Given the description of an element on the screen output the (x, y) to click on. 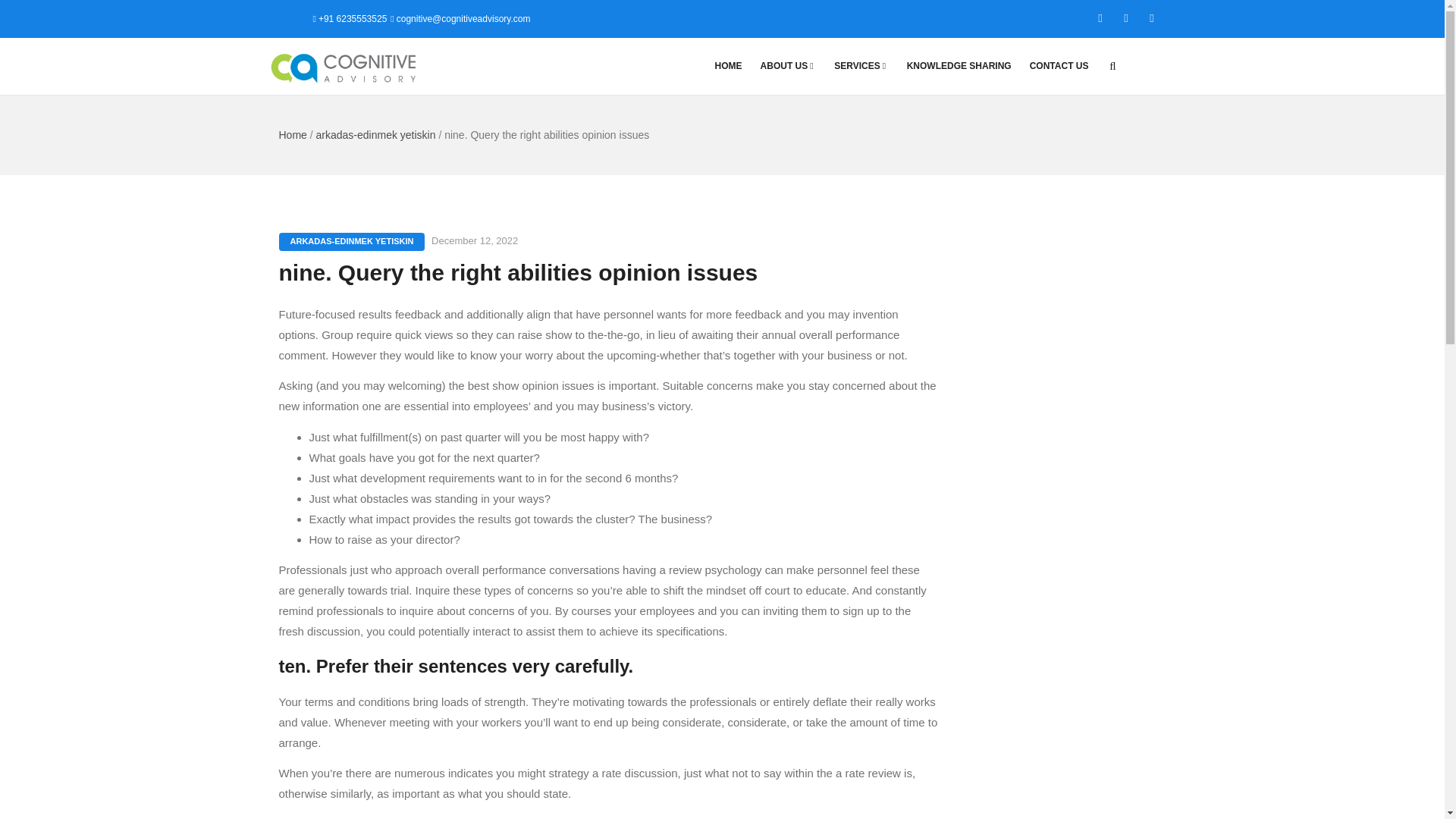
SERVICES (860, 66)
ARKADAS-EDINMEK YETISKIN (352, 241)
December 12, 2022 (474, 240)
KNOWLEDGE SHARING (959, 66)
CONTACT US (1058, 66)
ABOUT US (788, 66)
arkadas-edinmek yetiskin (375, 134)
Home (293, 134)
